Given the description of an element on the screen output the (x, y) to click on. 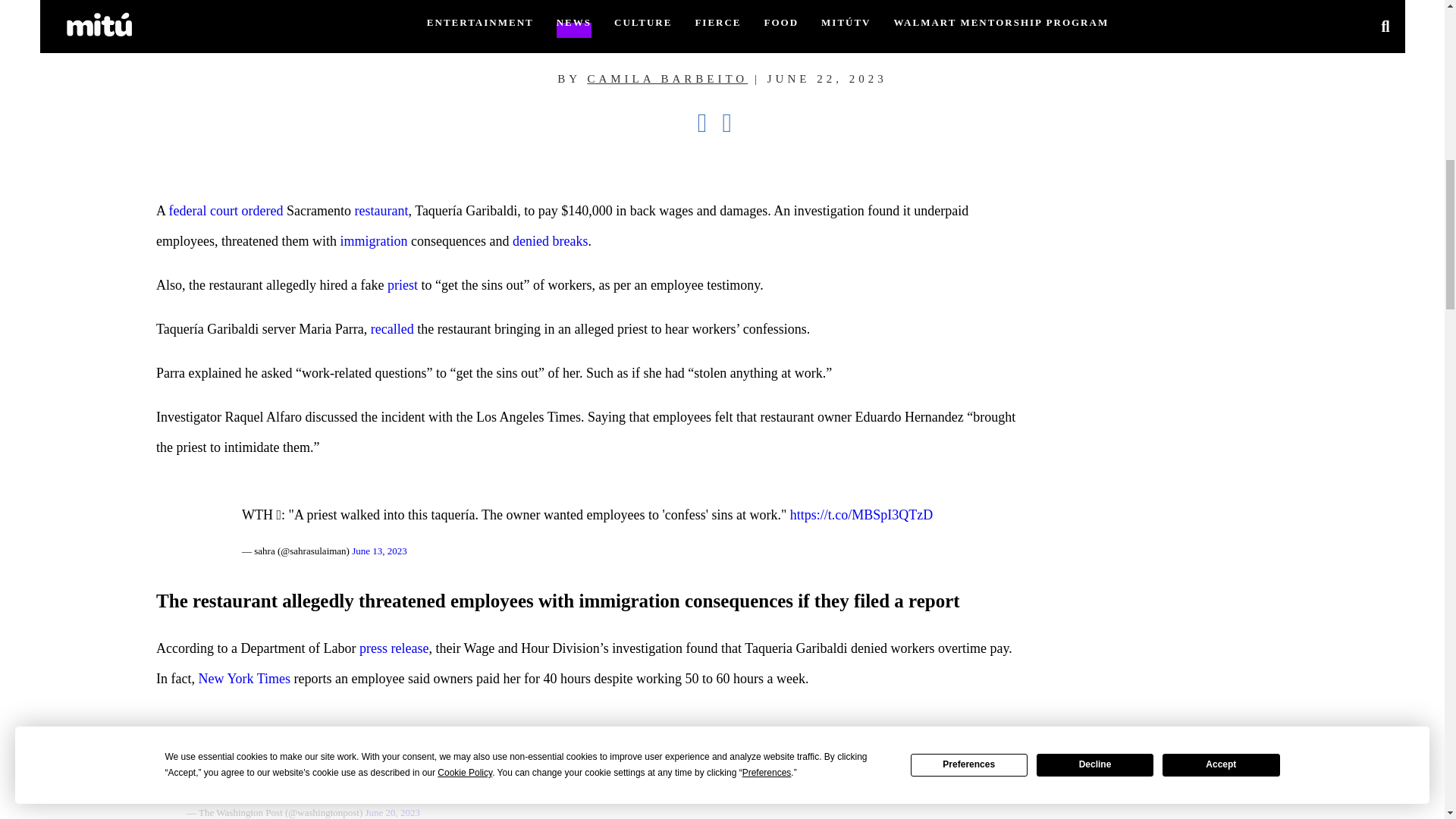
Posts by Camila Barbeito (667, 78)
June 20, 2023 (392, 812)
immigration (373, 240)
Share via Email (734, 122)
CAMILA BARBEITO (667, 78)
June 13, 2023 (379, 550)
denied breaks (550, 240)
recalled (392, 328)
restaurant (382, 210)
federal court ordered (225, 210)
Share on Facebook (709, 122)
press release (393, 648)
New York Times (244, 678)
priest (402, 284)
